Given the description of an element on the screen output the (x, y) to click on. 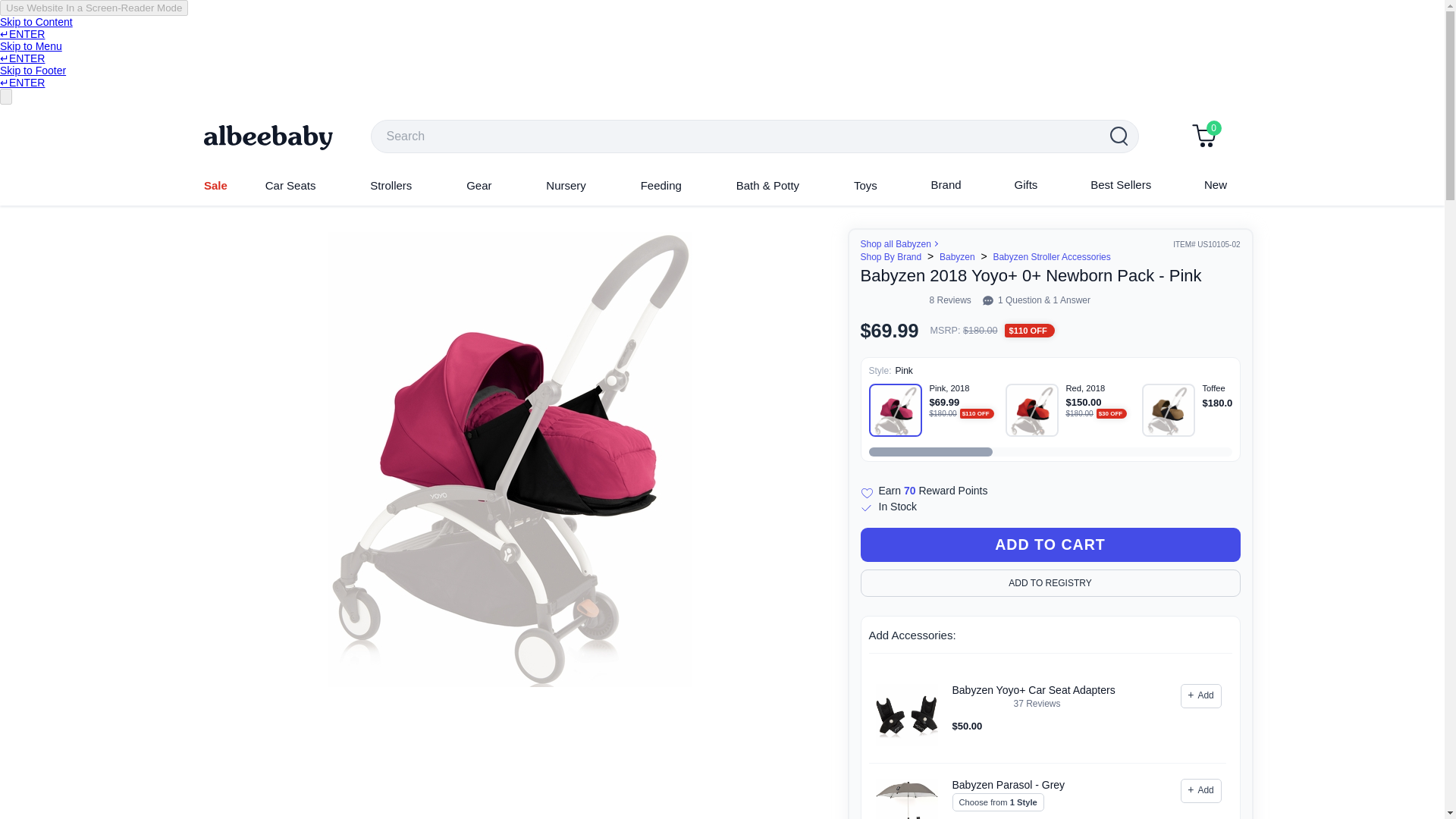
Car Seats (290, 185)
Add to Cart (1050, 544)
0 (1203, 137)
Sale (215, 185)
